Given the description of an element on the screen output the (x, y) to click on. 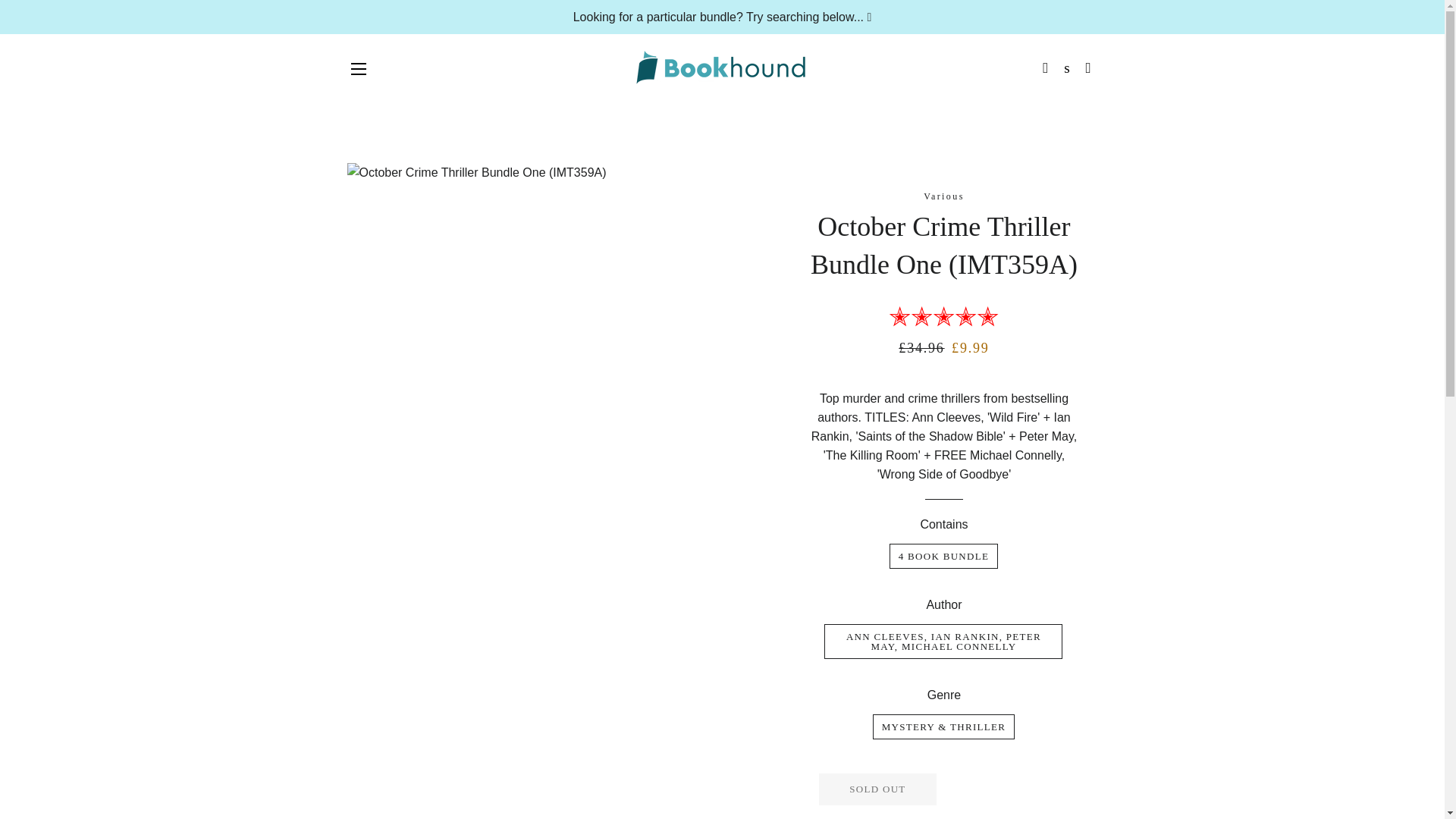
SOLD OUT (877, 789)
SITE NAVIGATION (358, 68)
